Given the description of an element on the screen output the (x, y) to click on. 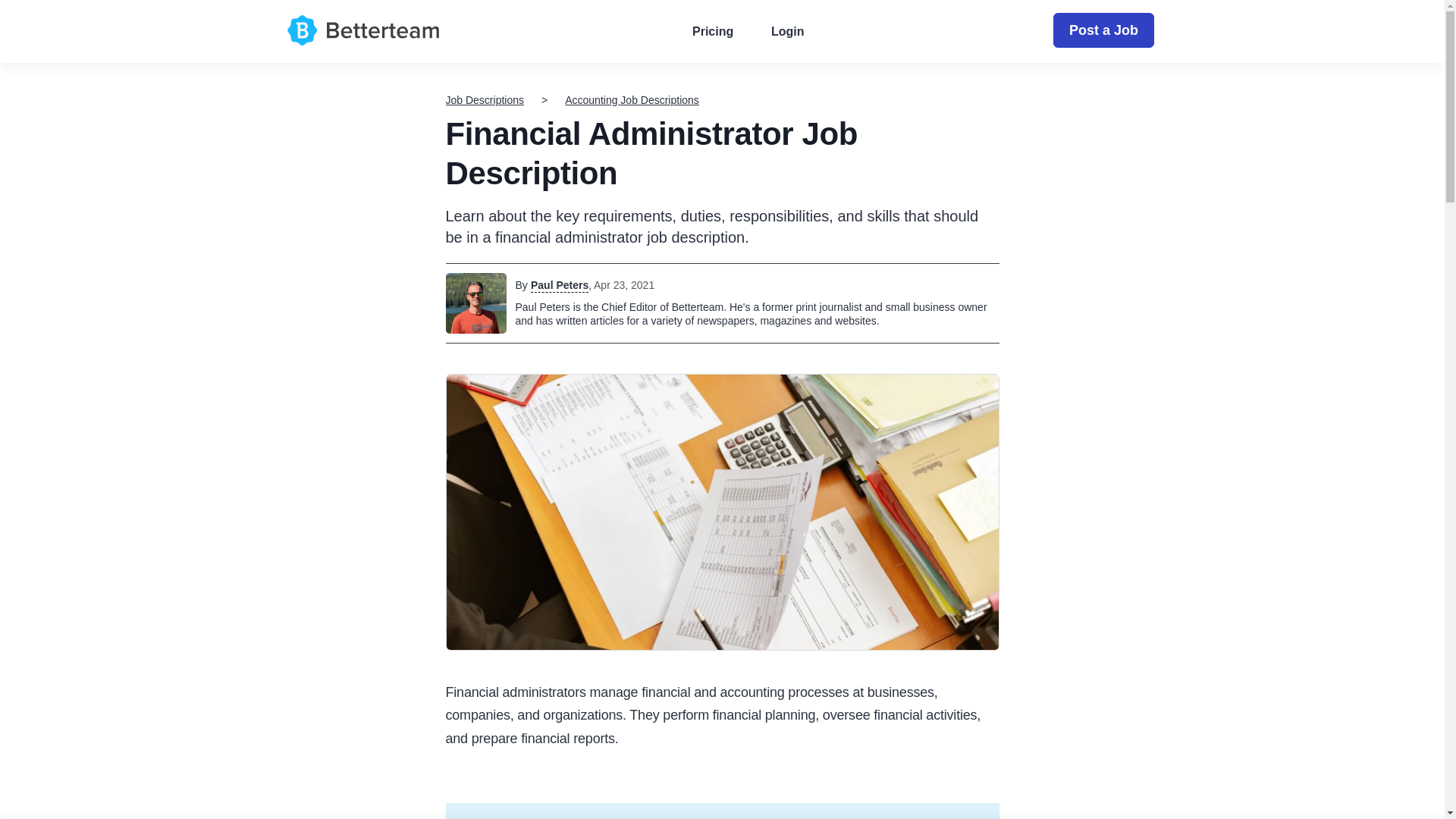
Login (787, 31)
Accounting Job Descriptions (631, 100)
Job Descriptions (484, 100)
Pricing (712, 31)
Paul Peters (559, 285)
Post a Job (1103, 30)
